Given the description of an element on the screen output the (x, y) to click on. 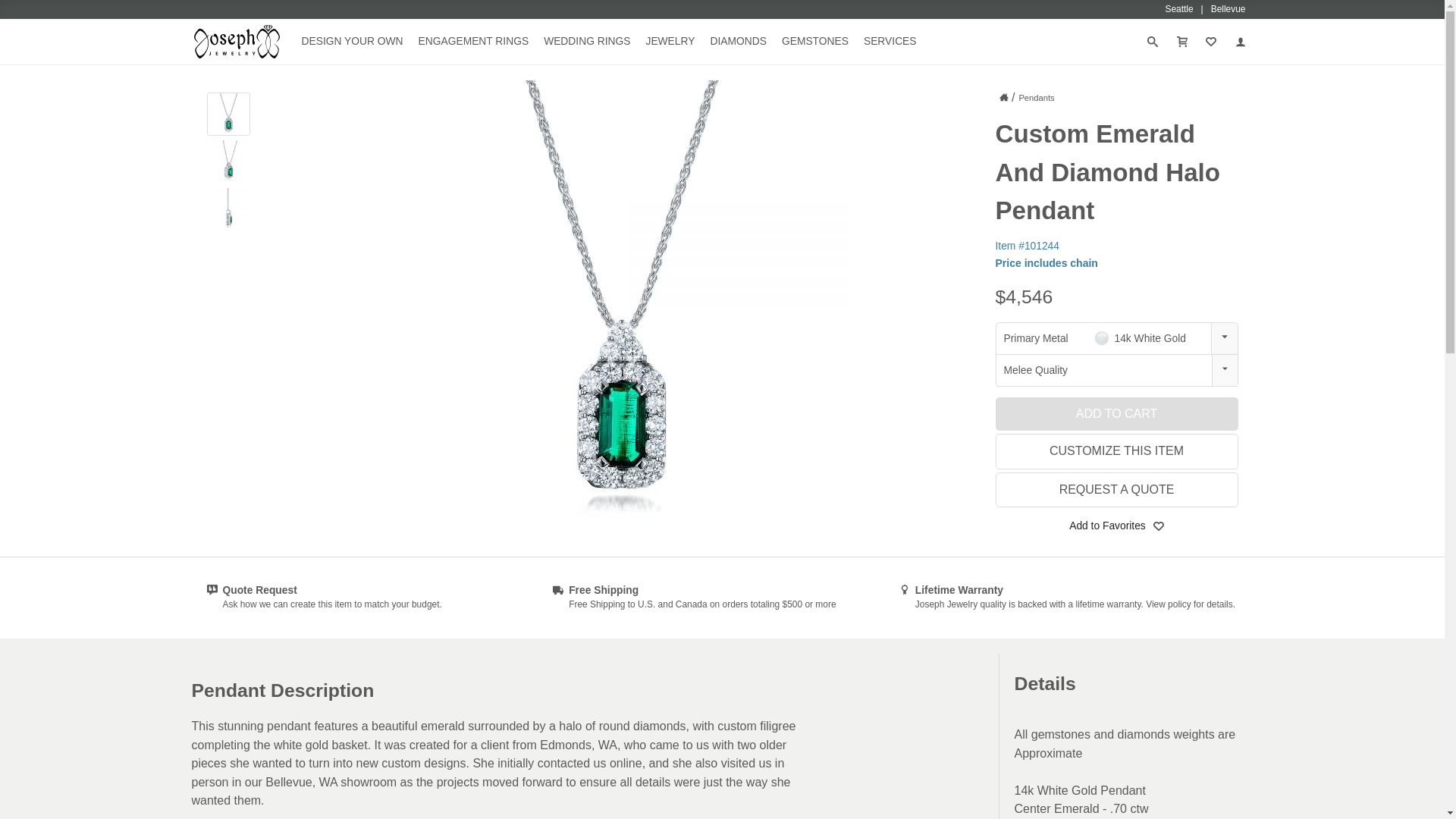
Add to Cart (1115, 413)
Search (25, 11)
Bellevue (1228, 8)
Seattle (1186, 8)
ENGAGEMENT RINGS (473, 41)
DESIGN YOUR OWN (352, 41)
